Given the description of an element on the screen output the (x, y) to click on. 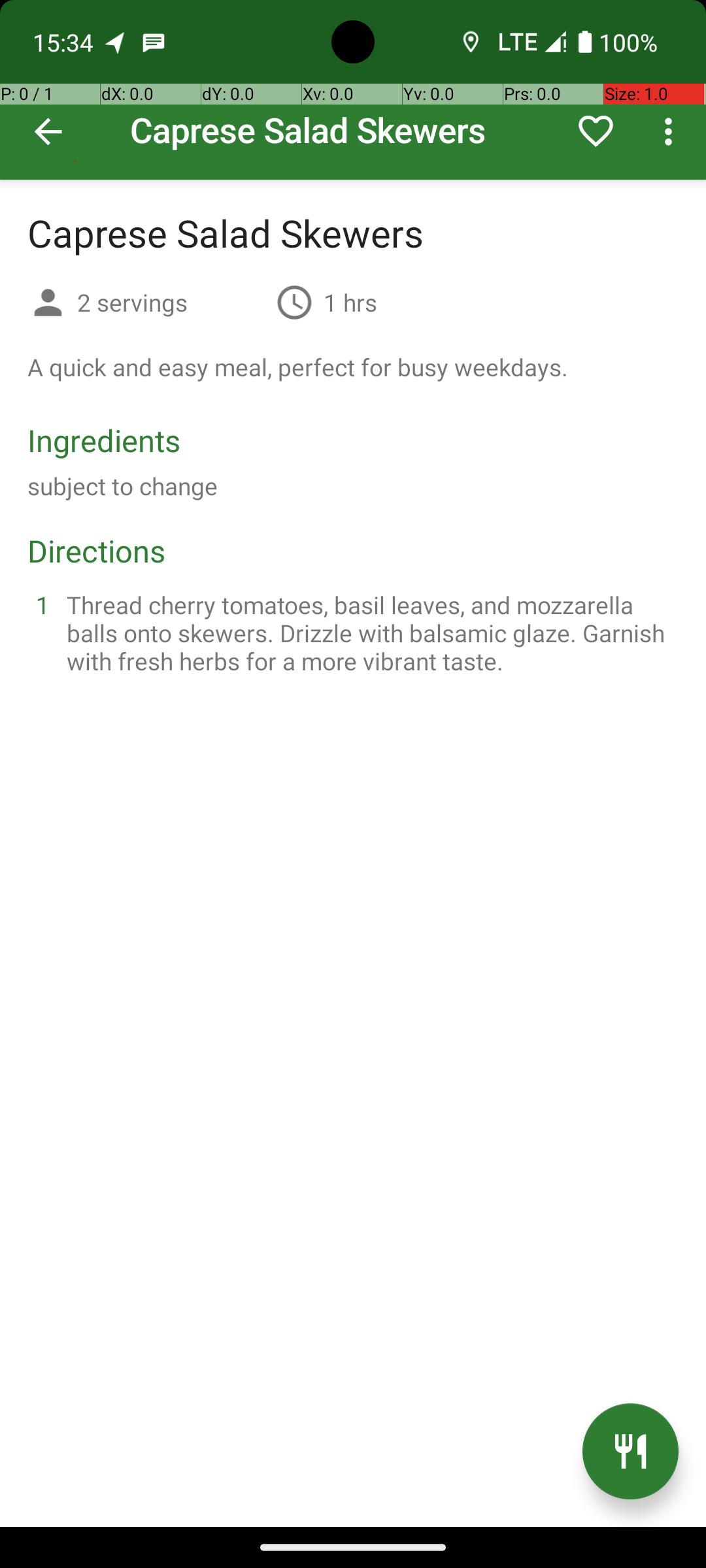
Thread cherry tomatoes, basil leaves, and mozzarella balls onto skewers. Drizzle with balsamic glaze. Garnish with fresh herbs for a more vibrant taste. Element type: android.widget.TextView (368, 632)
